Given the description of an element on the screen output the (x, y) to click on. 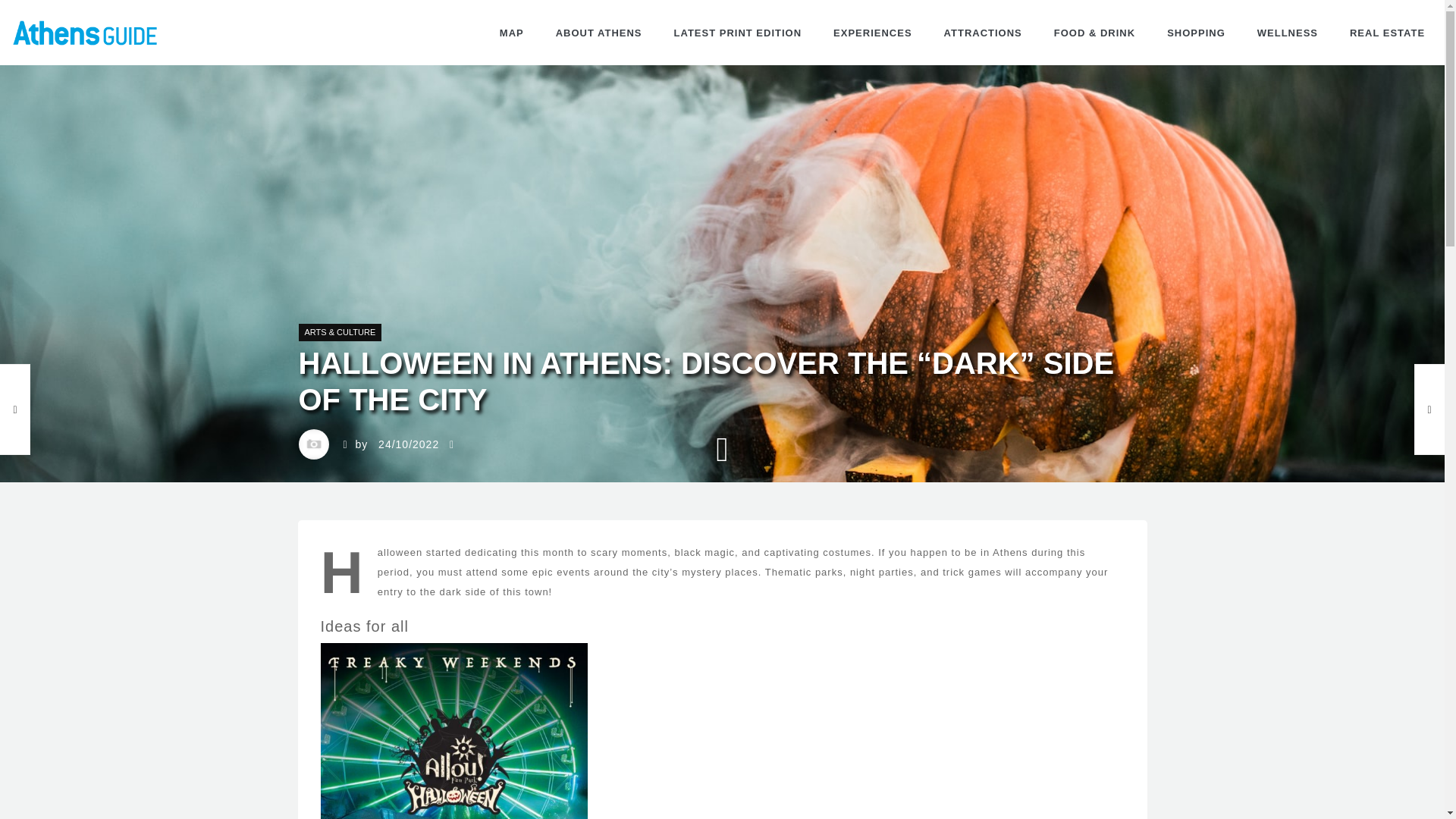
Shopping (1196, 33)
EXPERIENCES (871, 33)
Attractions (983, 33)
REAL ESTATE (1387, 33)
ABOUT ATHENS (599, 33)
SHOPPING (1196, 33)
Map (511, 33)
Wellness (1287, 33)
MAP (511, 33)
Experiences (871, 33)
LATEST PRINT EDITION (738, 33)
About Athens (599, 33)
ATTRACTIONS (983, 33)
WELLNESS (1287, 33)
Latest print edition (738, 33)
